Given the description of an element on the screen output the (x, y) to click on. 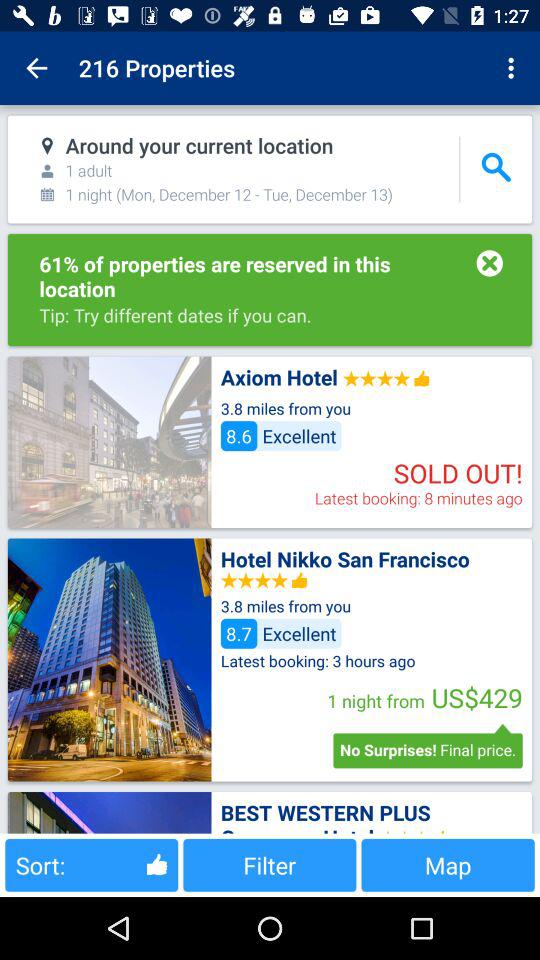
press icon next to the sort: (269, 864)
